Given the description of an element on the screen output the (x, y) to click on. 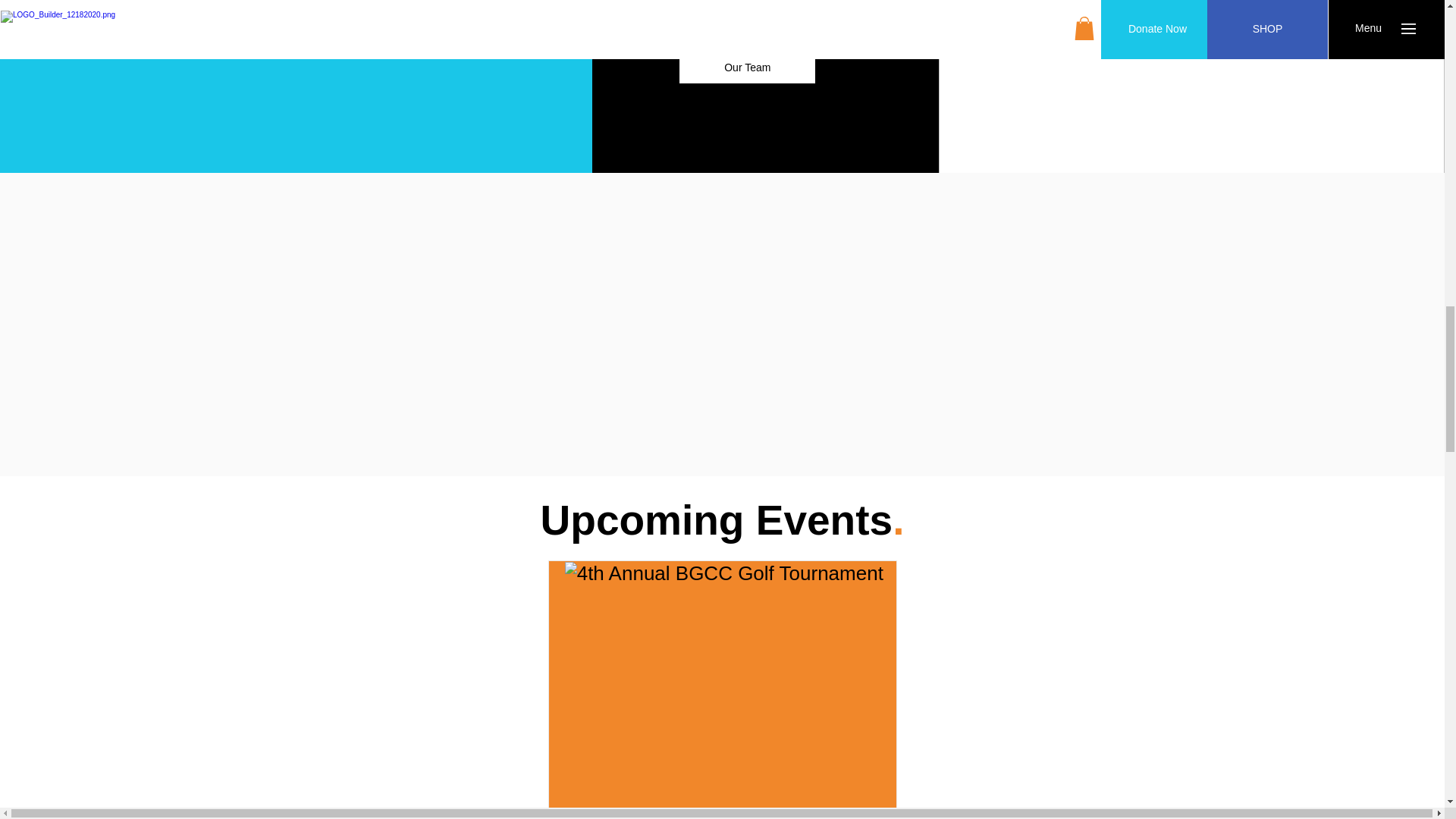
Our Team (747, 68)
